Given the description of an element on the screen output the (x, y) to click on. 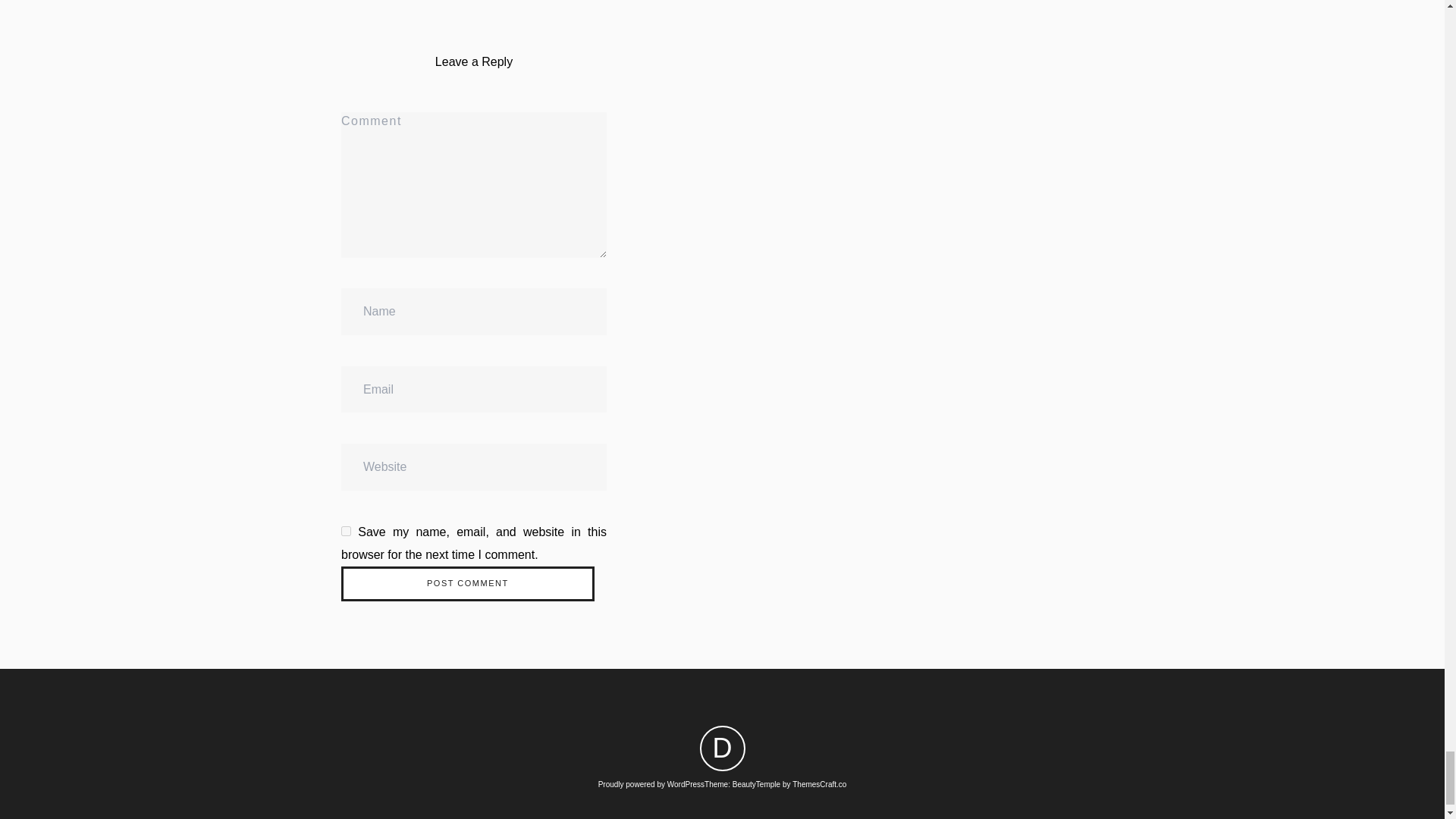
yes (345, 531)
Post Comment (467, 583)
